Given the description of an element on the screen output the (x, y) to click on. 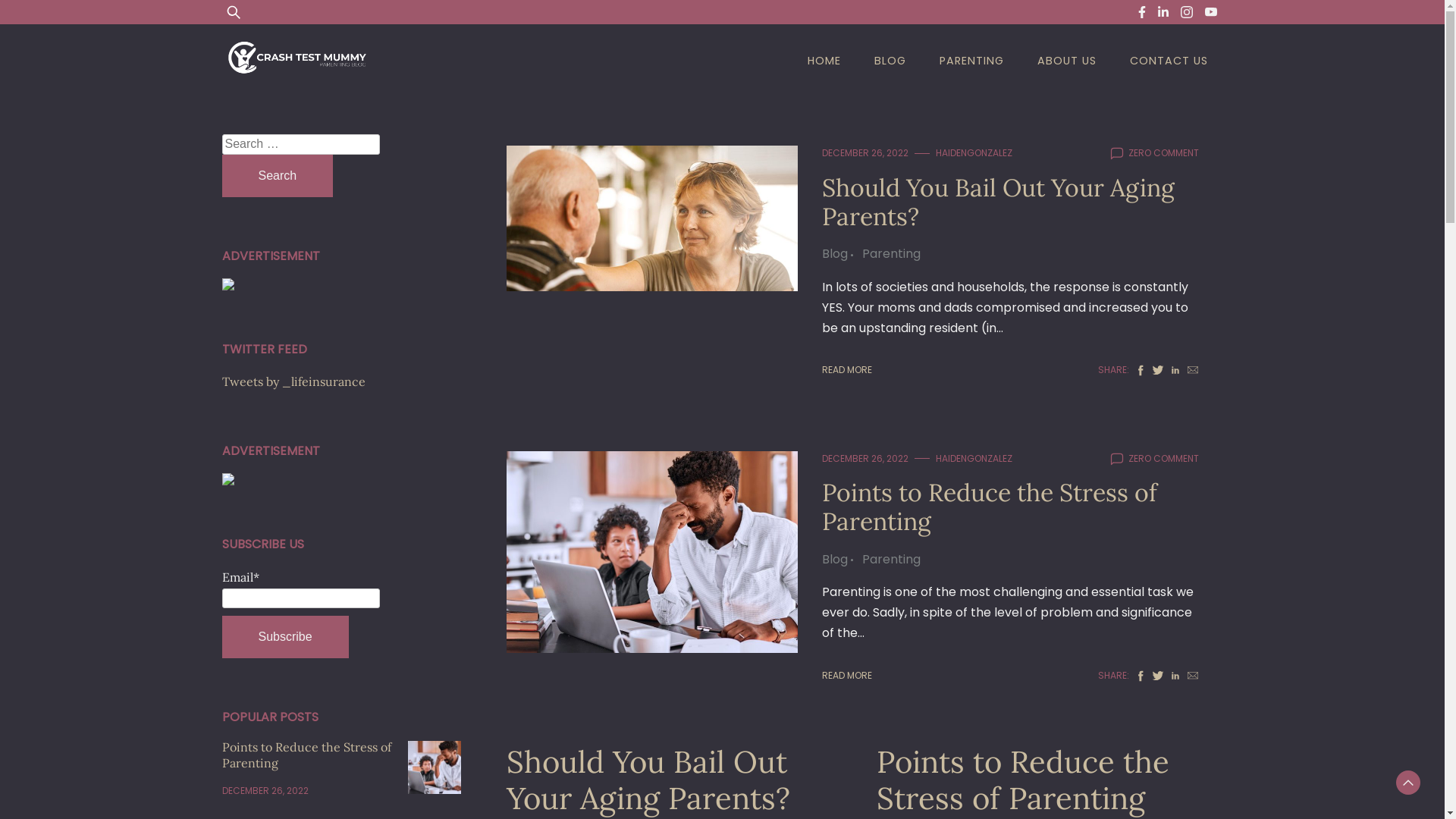
PARENTING Element type: text (970, 60)
ZERO COMMENT Element type: text (1163, 458)
Should You Bail Out Your Aging Parents? Element type: text (998, 202)
Points to Reduce the Stress of Parenting Element type: text (305, 754)
Tweets by _lifeinsurance Element type: text (292, 381)
HOME Element type: text (823, 60)
HAIDENGONZALEZ Element type: text (973, 458)
Points to Reduce the Stress of Parenting Element type: text (989, 506)
Parenting Element type: text (891, 559)
Blog Element type: text (839, 253)
Subscribe Element type: text (284, 636)
ABOUT US Element type: text (1066, 60)
HAIDENGONZALEZ Element type: text (973, 152)
BLOG Element type: text (889, 60)
Should You Bail Out Your Aging Parents? Element type: text (648, 779)
DECEMBER 26, 2022 Element type: text (865, 458)
READ MORE Element type: text (847, 675)
Blog Element type: text (839, 559)
DECEMBER 26, 2022 Element type: text (865, 152)
ZERO COMMENT Element type: text (1163, 152)
Search Element type: text (276, 175)
READ MORE Element type: text (847, 369)
CONTACT US Element type: text (1168, 60)
Parenting Element type: text (891, 253)
Points to Reduce the Stress of Parenting Element type: text (1022, 779)
Search Element type: text (55, 21)
